Given the description of an element on the screen output the (x, y) to click on. 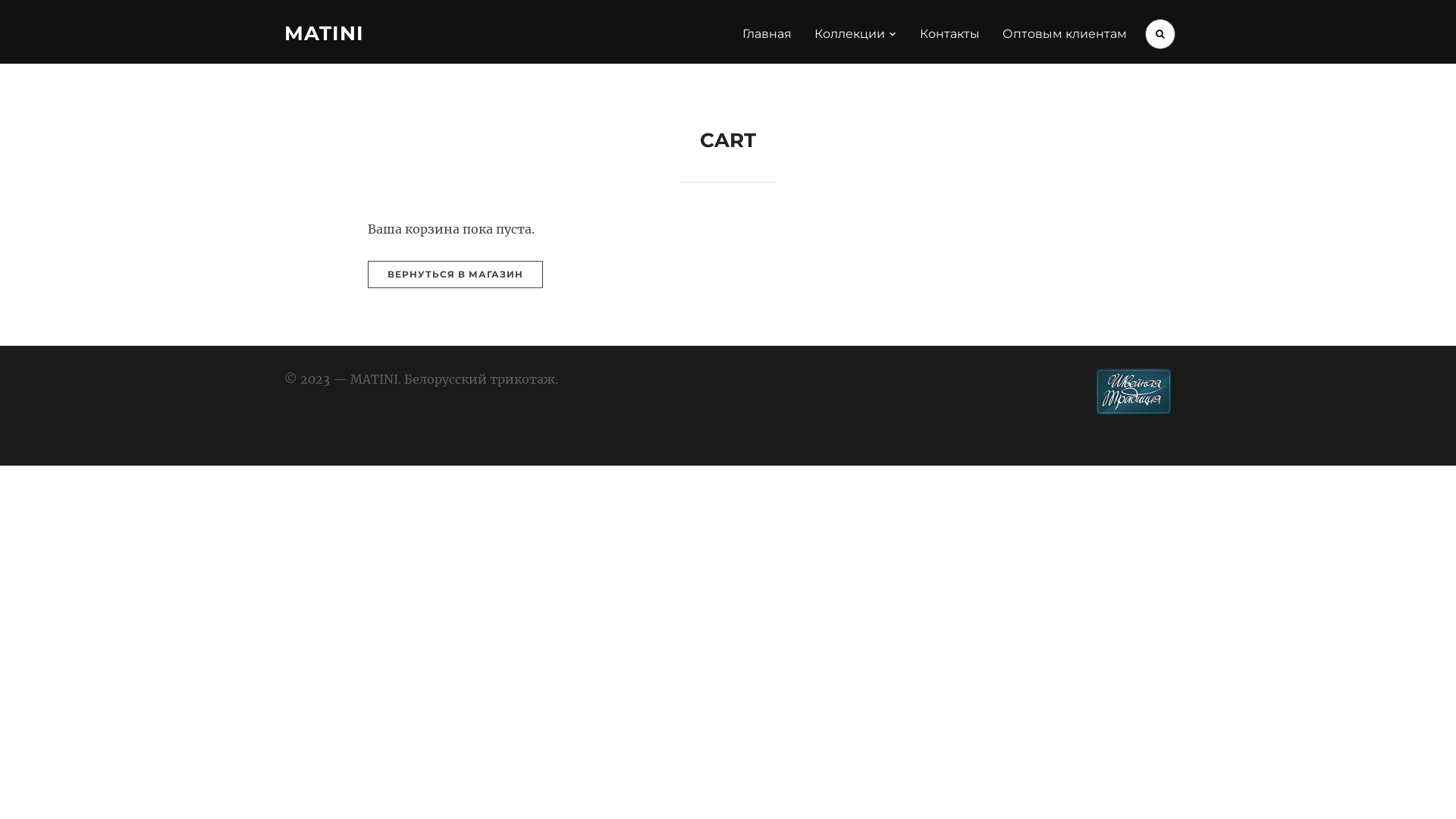
LiveInternet Element type: hover (1050, 401)
MATINI Element type: text (324, 33)
